Given the description of an element on the screen output the (x, y) to click on. 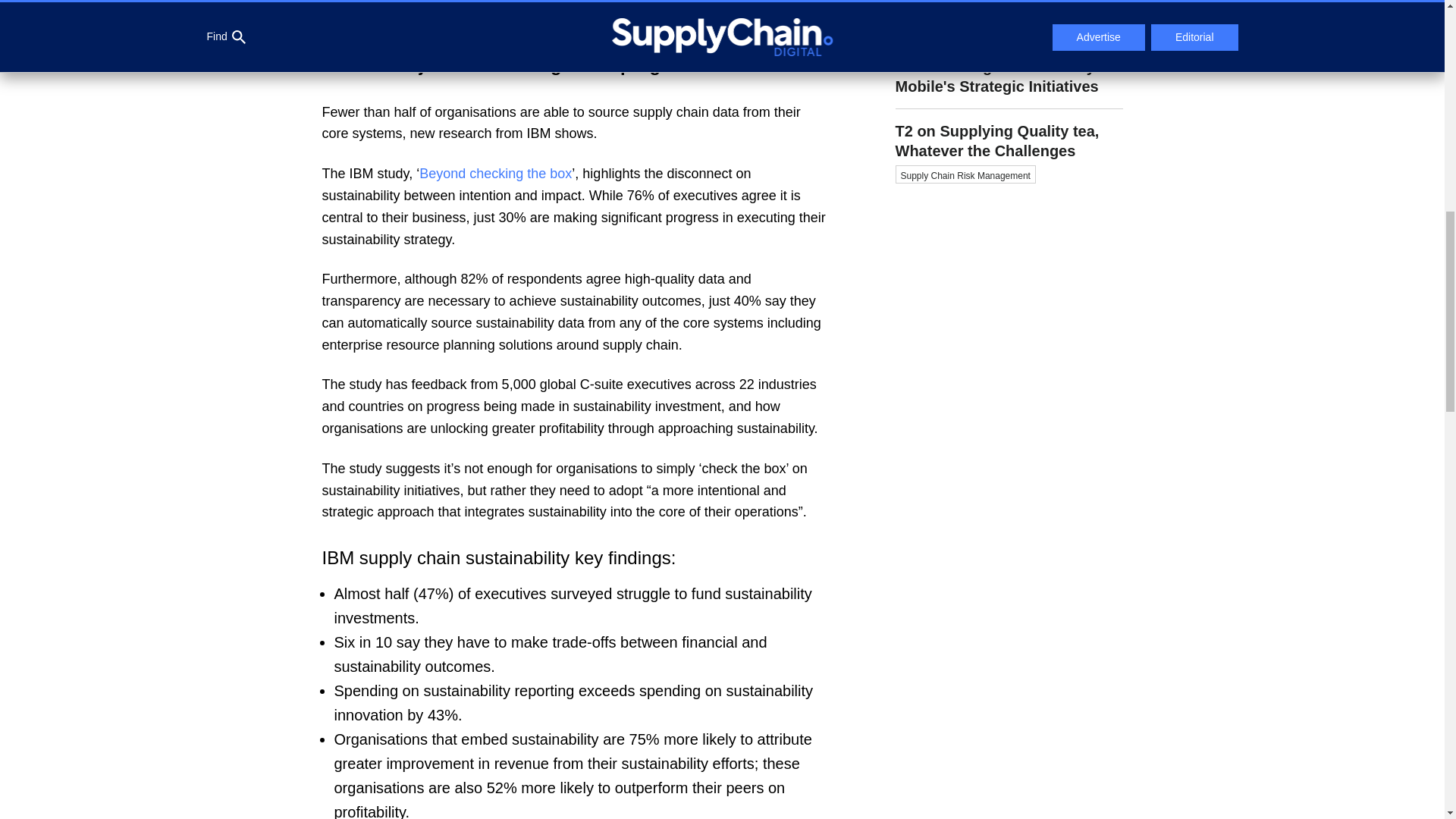
Beyond checking the box (495, 173)
Transforming Sustainability T-Mobile's Strategic Initiatives (1008, 76)
